Given the description of an element on the screen output the (x, y) to click on. 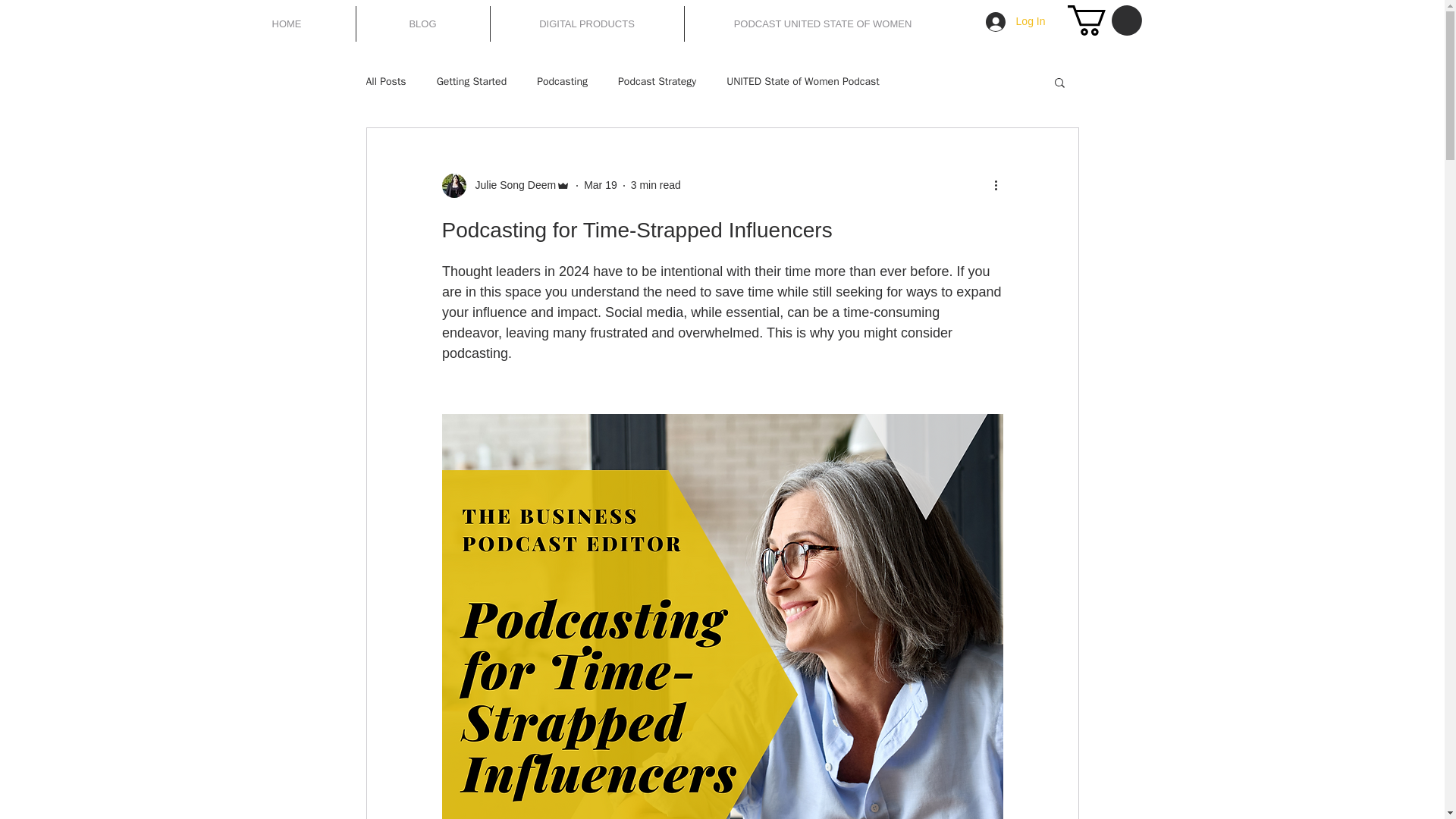
DIGITAL PRODUCTS (585, 23)
Podcast Strategy (656, 81)
HOME (286, 23)
Getting Started (471, 81)
PODCAST UNITED STATE OF WOMEN (822, 23)
BLOG (422, 23)
Podcasting (562, 81)
Julie Song Deem (510, 185)
Mar 19 (600, 184)
3 min read (655, 184)
